Given the description of an element on the screen output the (x, y) to click on. 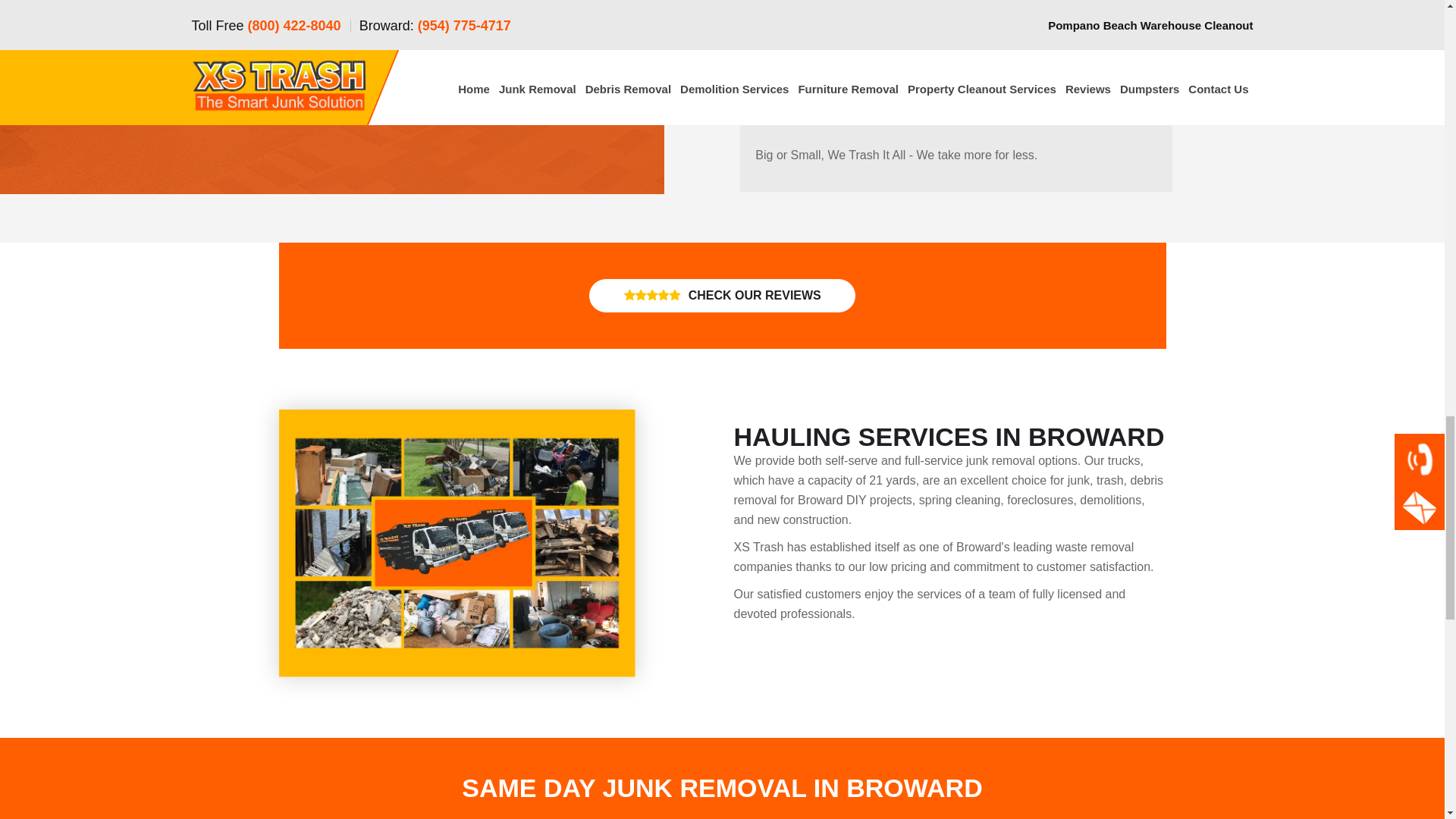
CHECK OUR REVIEWS (722, 295)
